Given the description of an element on the screen output the (x, y) to click on. 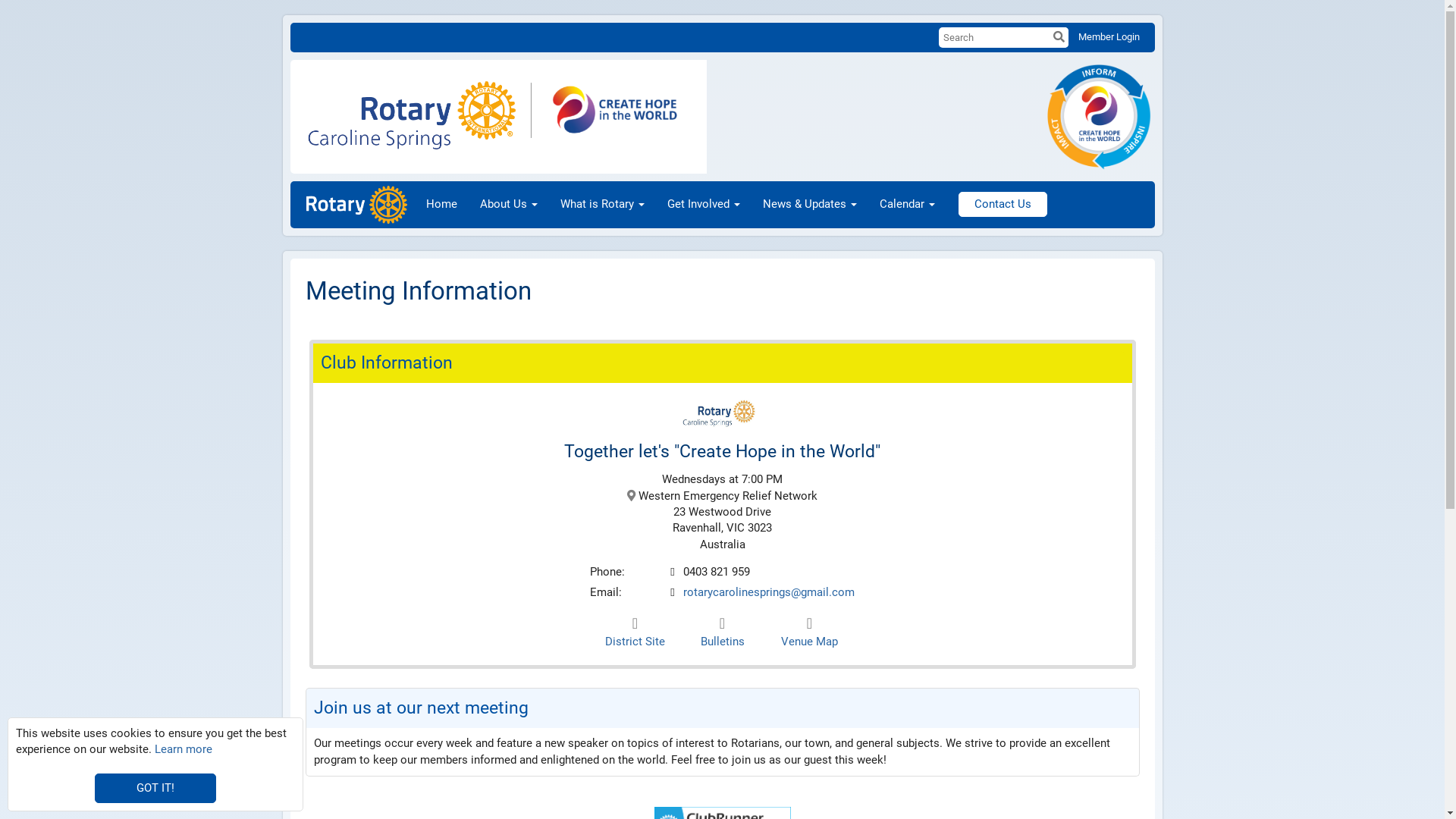
What is Rotary Element type: text (602, 204)
Learn more Element type: text (183, 749)
Calendar Element type: text (907, 204)
GOT IT! Element type: text (155, 788)
Bulletins Element type: text (722, 632)
Get Involved Element type: text (703, 204)
Venue Map Element type: text (809, 632)
Contact Us Element type: text (1002, 204)
District Site Element type: text (634, 632)
rotarycarolinesprings@gmail.com Element type: text (768, 592)
About Us Element type: text (508, 204)
News & Updates Element type: text (809, 204)
Home Element type: text (441, 204)
Member Login Element type: text (1108, 36)
